Given the description of an element on the screen output the (x, y) to click on. 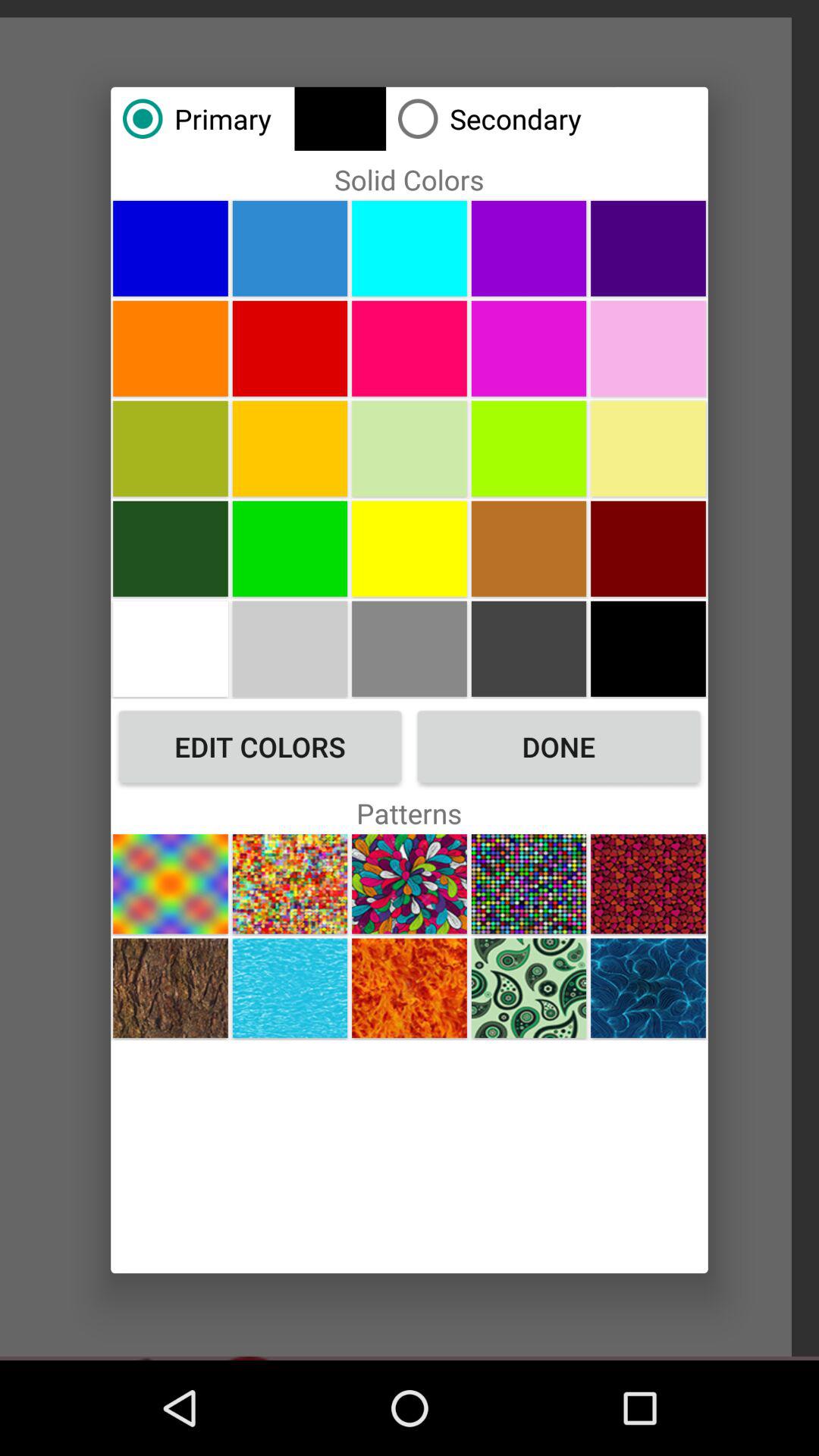
launch the done item (558, 746)
